Given the description of an element on the screen output the (x, y) to click on. 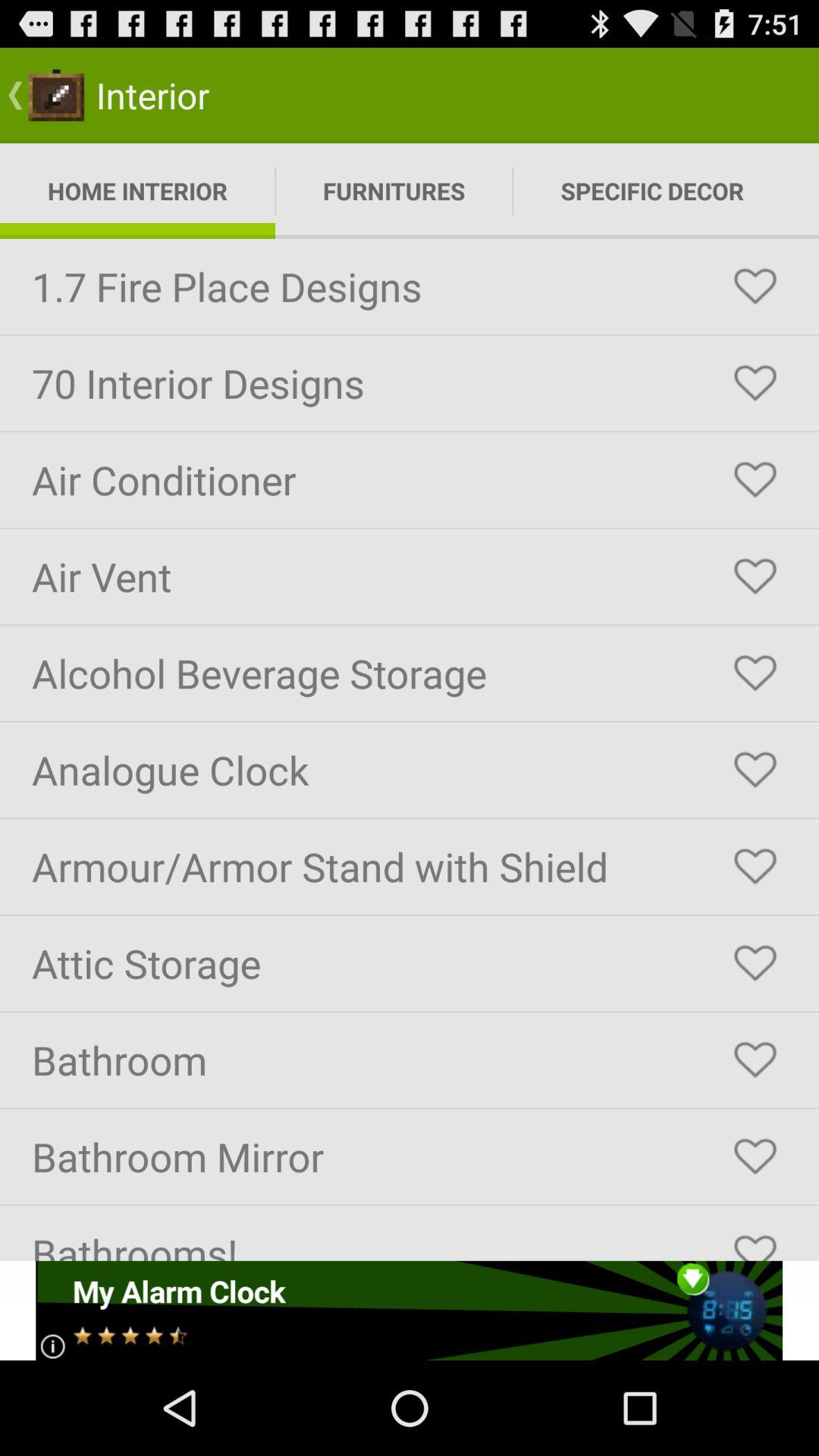
view advertisement (408, 1310)
